Given the description of an element on the screen output the (x, y) to click on. 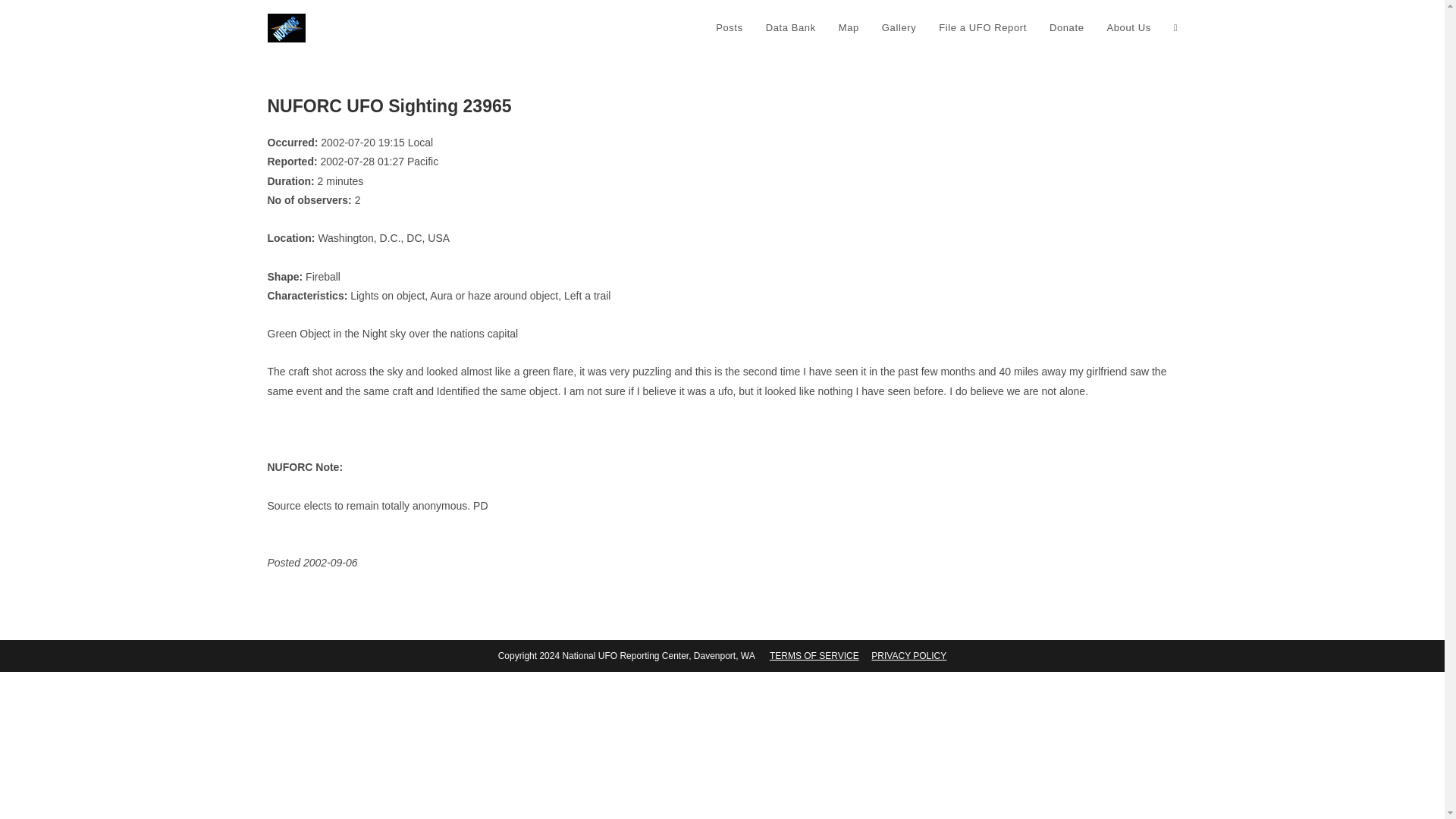
Gallery (898, 28)
Donate (1067, 28)
File a UFO Report (982, 28)
PRIVACY POLICY (908, 655)
Posts (729, 28)
Data Bank (790, 28)
About Us (1127, 28)
TERMS OF SERVICE (814, 655)
